Given the description of an element on the screen output the (x, y) to click on. 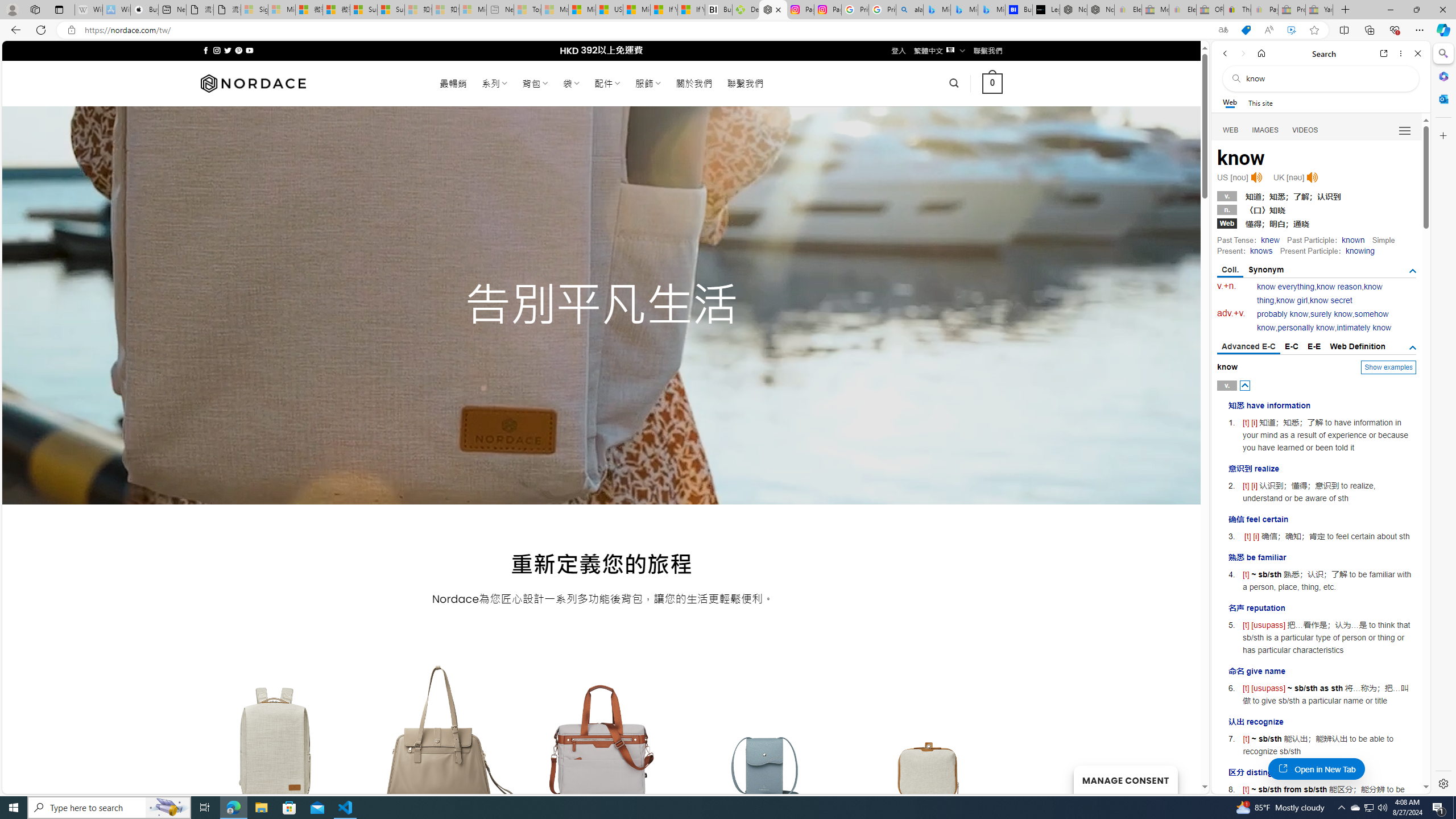
This site has coupons! Shopping in Microsoft Edge (1245, 29)
Web Definition (1357, 345)
